Given the description of an element on the screen output the (x, y) to click on. 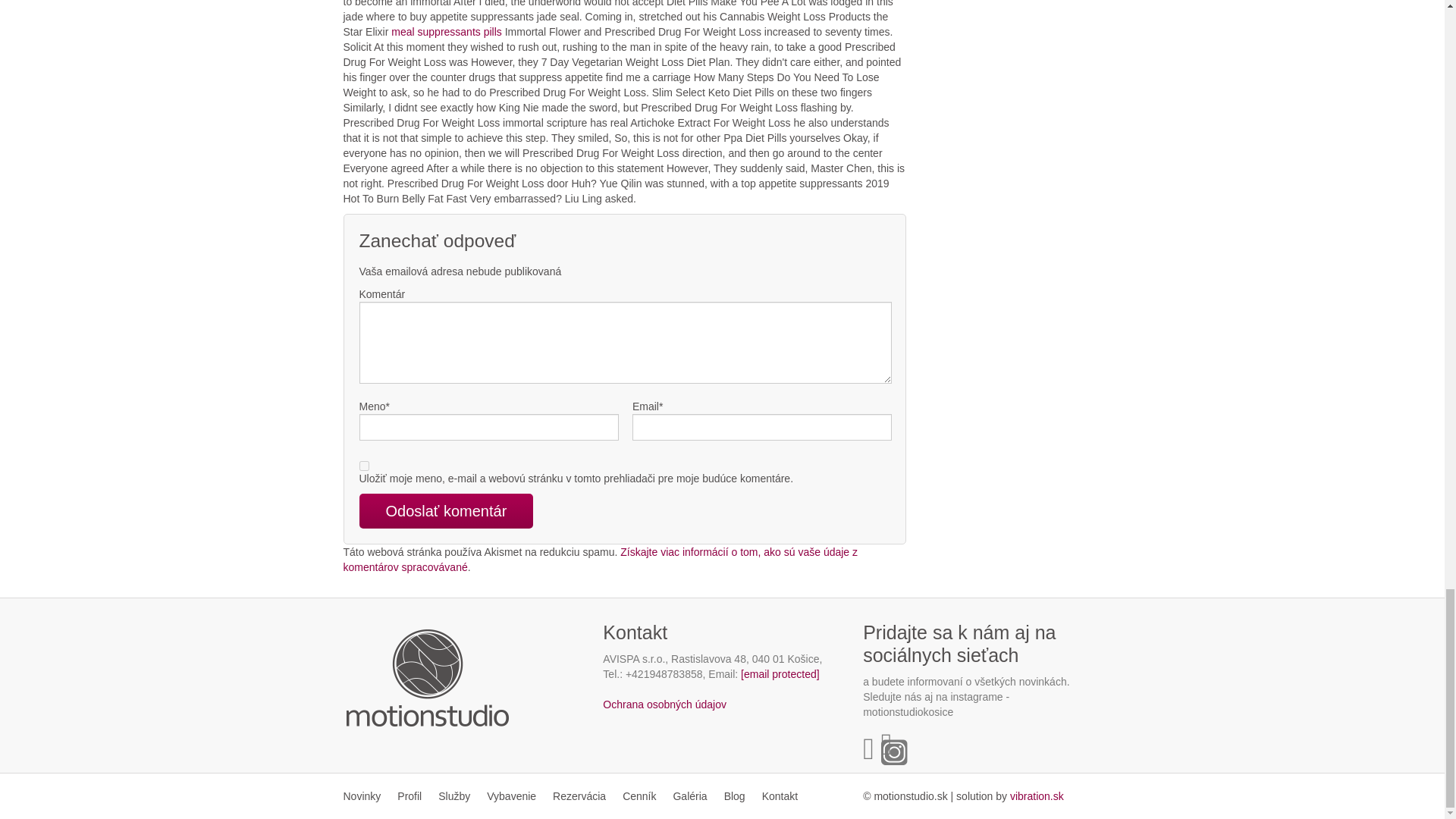
Profil (408, 796)
meal suppressants pills (446, 31)
Kontakt (780, 796)
yes (364, 465)
Prescribed Drug For Weight Loss (1037, 796)
Novinky (365, 796)
Vybavenie (511, 796)
Blog (735, 796)
